Given the description of an element on the screen output the (x, y) to click on. 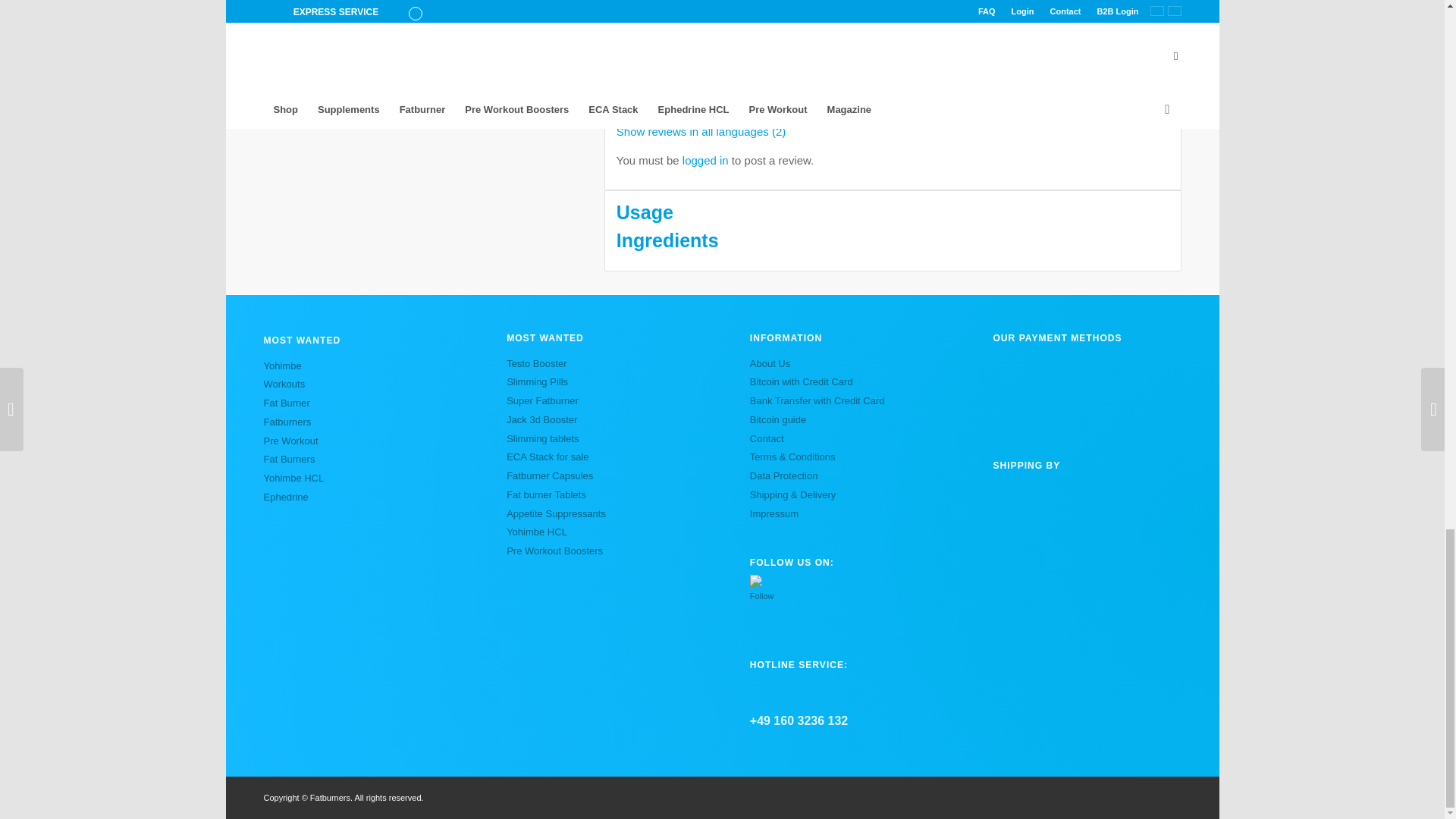
Yohimbe (282, 365)
Workouts (284, 383)
